Given the description of an element on the screen output the (x, y) to click on. 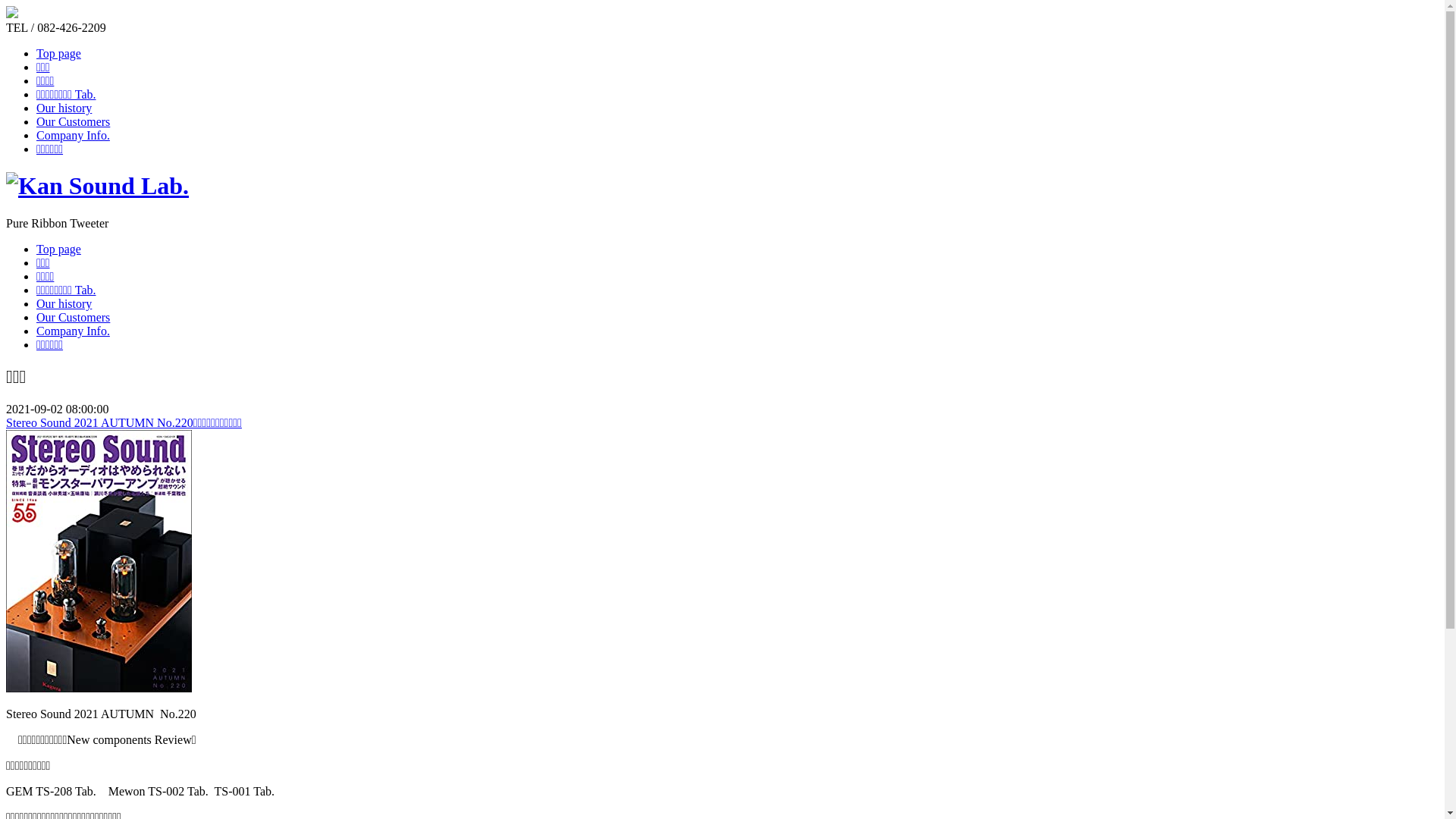
Our history Element type: text (63, 303)
Our Customers Element type: text (72, 121)
Company Info. Element type: text (72, 134)
Top page Element type: text (58, 248)
Our history Element type: text (63, 107)
Top page Element type: text (58, 53)
Company Info. Element type: text (72, 330)
Our Customers Element type: text (72, 316)
